Given the description of an element on the screen output the (x, y) to click on. 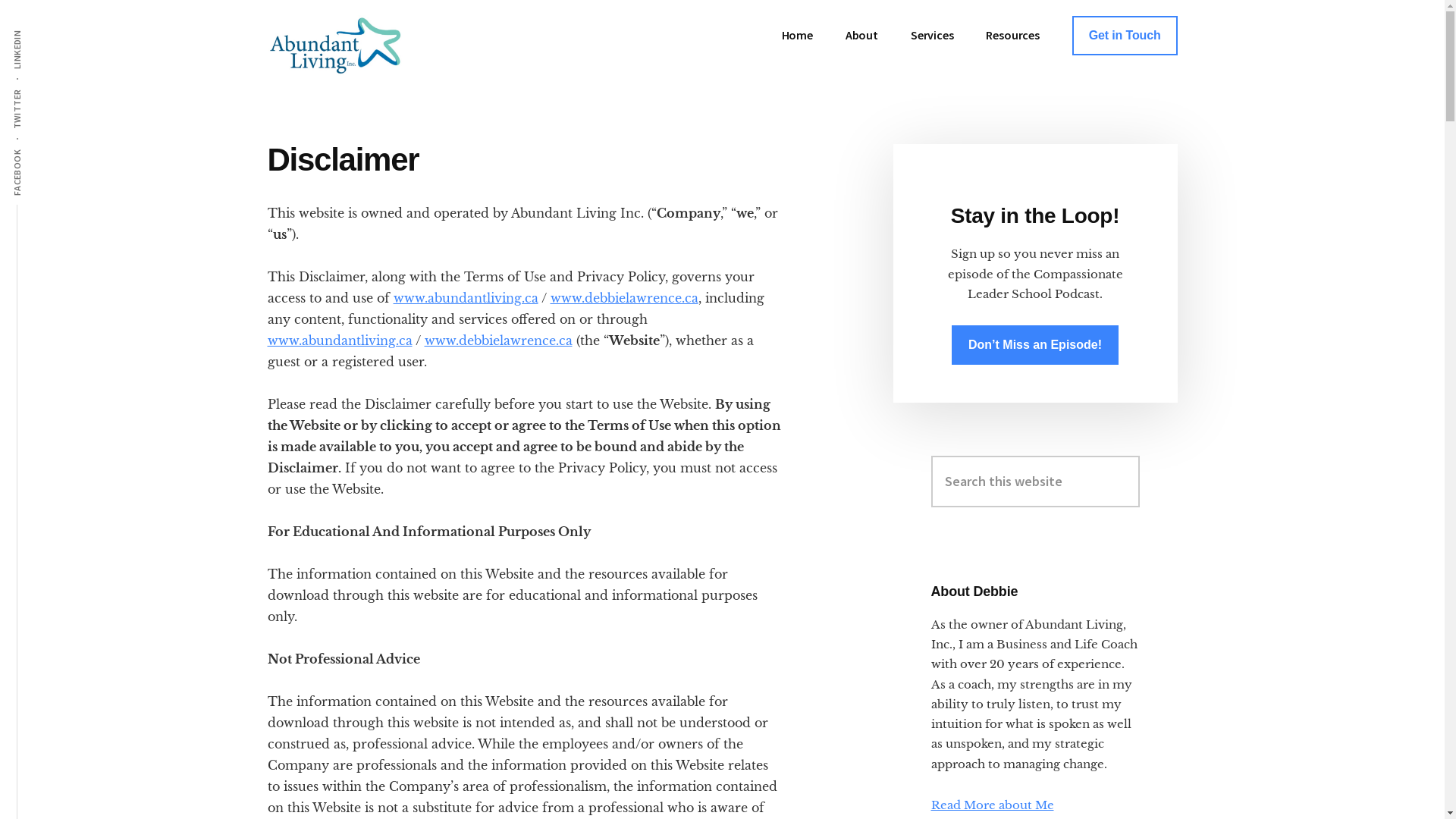
TWITTER Element type: text (38, 88)
www.abundantliving.ca Element type: text (338, 340)
Get in Touch Element type: text (1124, 35)
Read More about Me Element type: text (992, 804)
Home Element type: text (797, 34)
Resources Element type: text (1012, 34)
FACEBOOK Element type: text (41, 148)
www.debbielawrence.ca Element type: text (624, 297)
Skip to main content Element type: text (0, 0)
www.abundantliving.ca Element type: text (464, 297)
www.debbielawrence.ca Element type: text (498, 340)
Search Element type: text (1139, 455)
LINKEDIN Element type: text (37, 29)
Abundant Living, Inc. Element type: text (380, 45)
Services Element type: text (932, 34)
About Element type: text (861, 34)
